Given the description of an element on the screen output the (x, y) to click on. 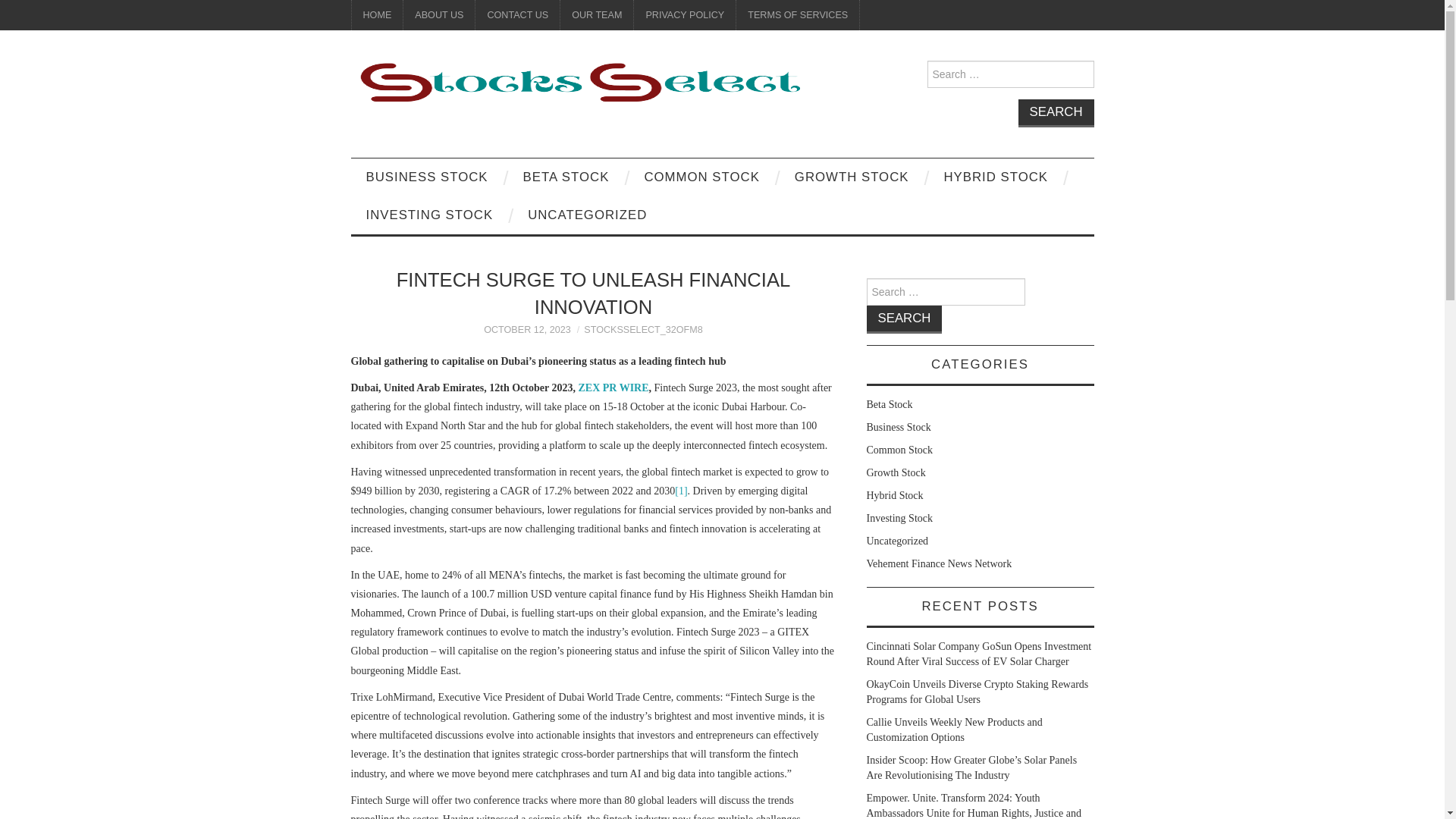
Stocks Select (577, 81)
TERMS OF SERVICES (797, 15)
BETA STOCK (566, 177)
COMMON STOCK (701, 177)
OCTOBER 12, 2023 (526, 329)
Vehement Finance News Network (938, 563)
OUR TEAM (596, 15)
GROWTH STOCK (851, 177)
Investing Stock (899, 518)
Search (1055, 113)
Search (1055, 113)
CONTACT US (517, 15)
Search (904, 319)
Search for: (1009, 73)
